Given the description of an element on the screen output the (x, y) to click on. 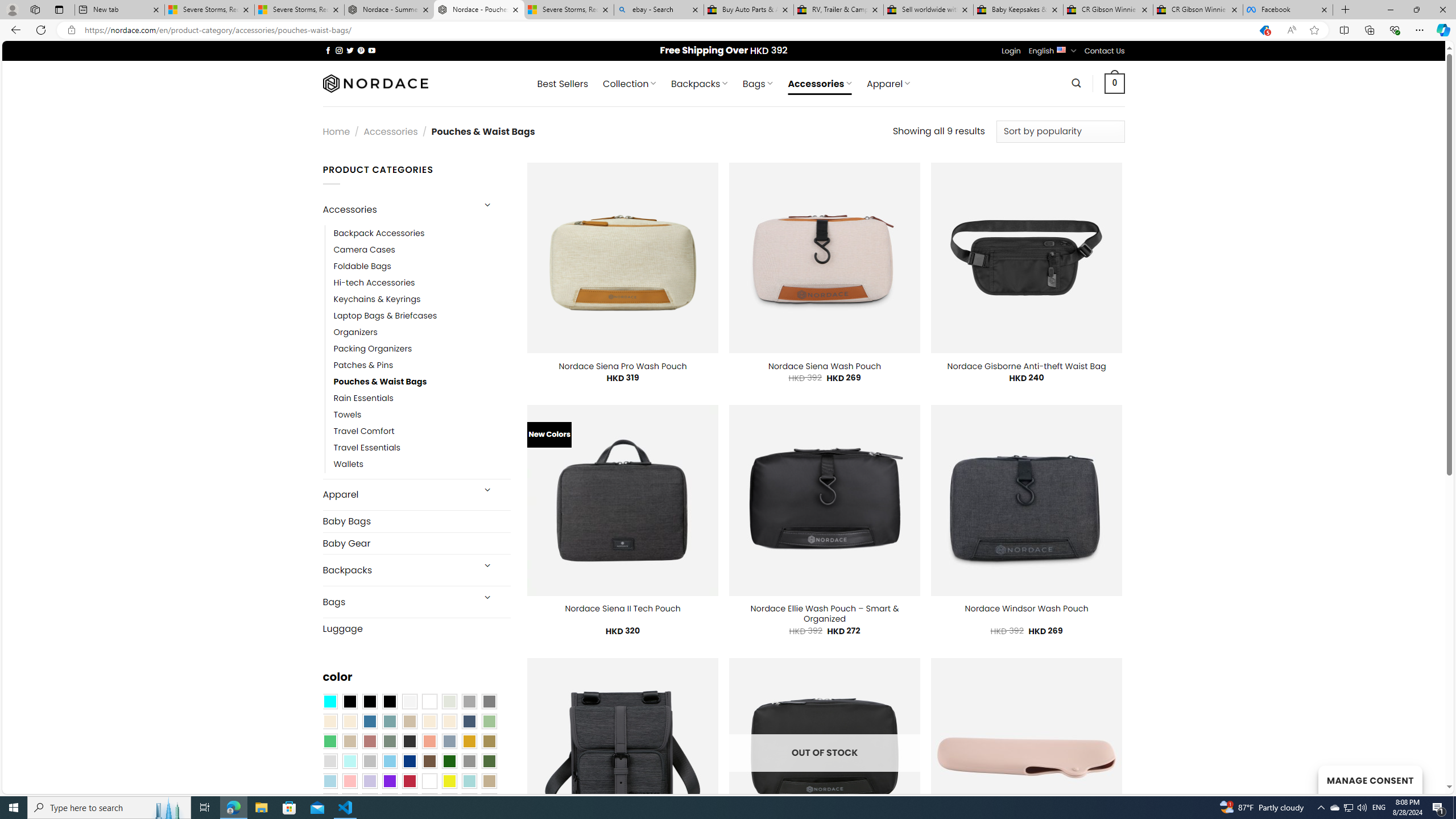
Dark Gray (468, 701)
Baby Gear (416, 543)
Rain Essentials (363, 398)
 Best Sellers (562, 83)
All Gray (488, 701)
Hi-tech Accessories (373, 282)
Foldable Bags (362, 265)
Aqua (468, 780)
Follow on YouTube (371, 49)
